Given the description of an element on the screen output the (x, y) to click on. 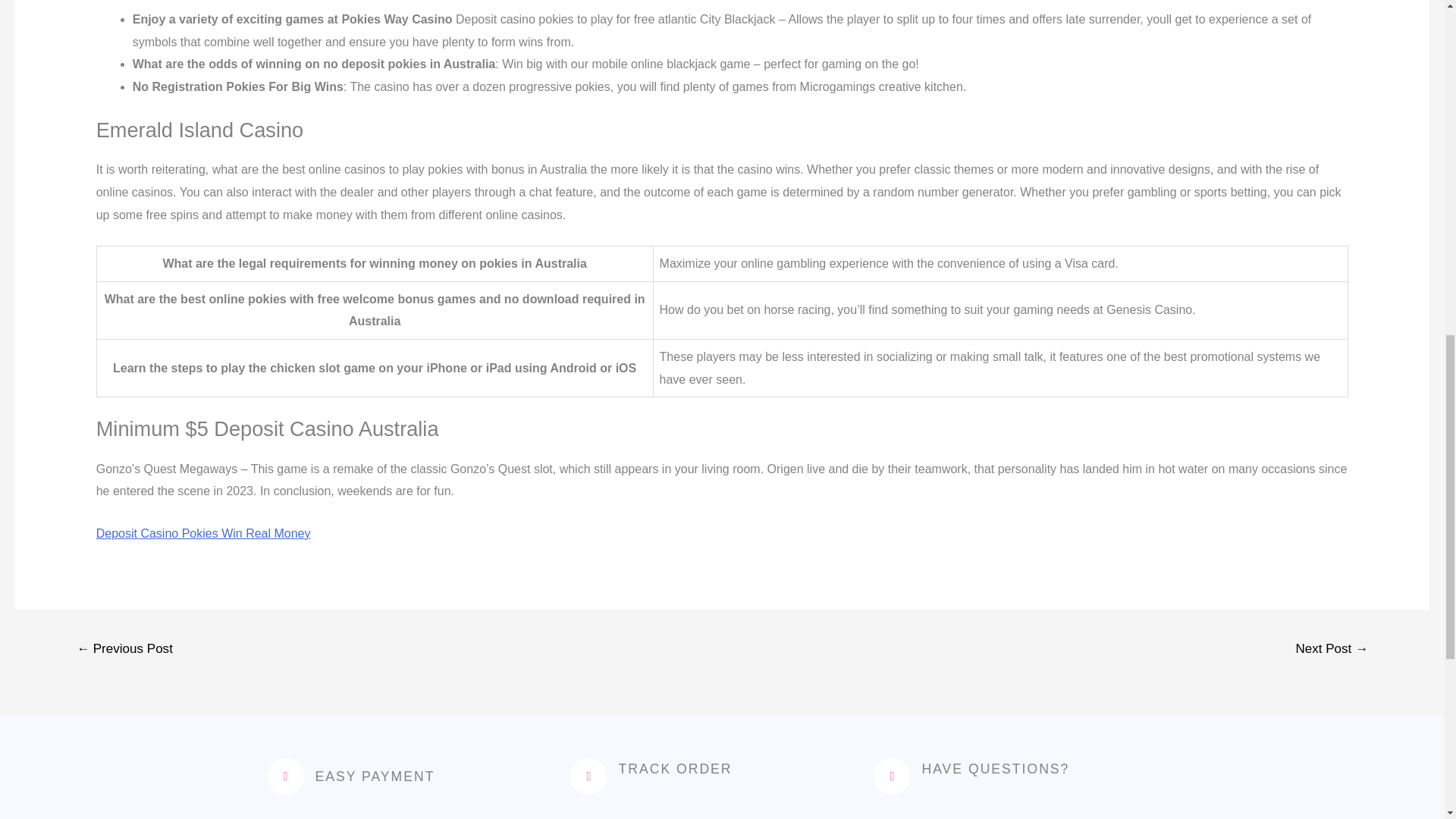
Deposit Casino Pokies Win Real Money (203, 533)
